Given the description of an element on the screen output the (x, y) to click on. 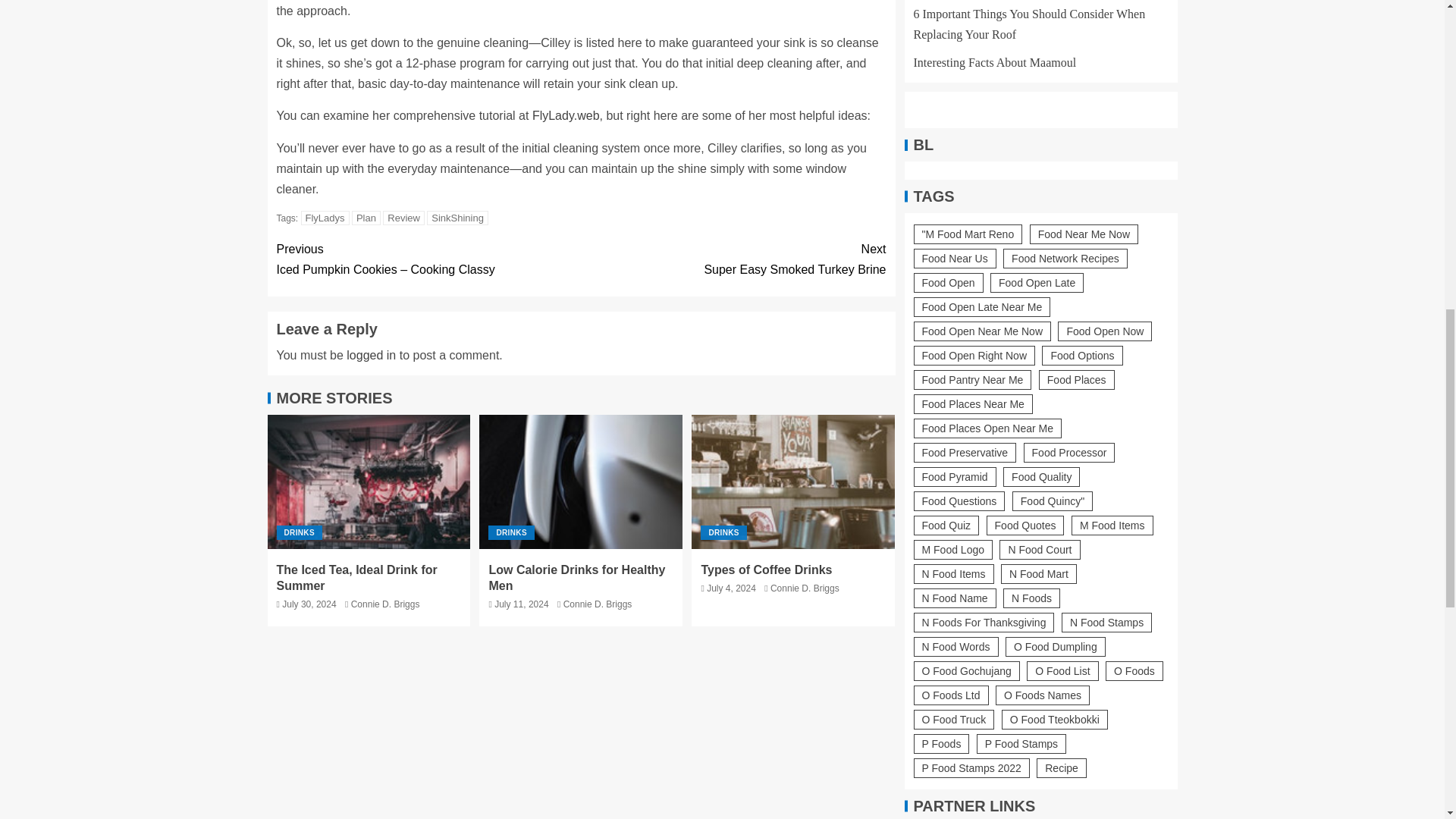
Types of Coffee Drinks (793, 481)
logged in (371, 354)
SinkShining (456, 217)
The Iced Tea, Ideal Drink for Summer (356, 577)
Connie D. Briggs (732, 259)
DRINKS (385, 603)
Plan (298, 532)
FlyLadys (366, 217)
FlyLady.web (325, 217)
